Given the description of an element on the screen output the (x, y) to click on. 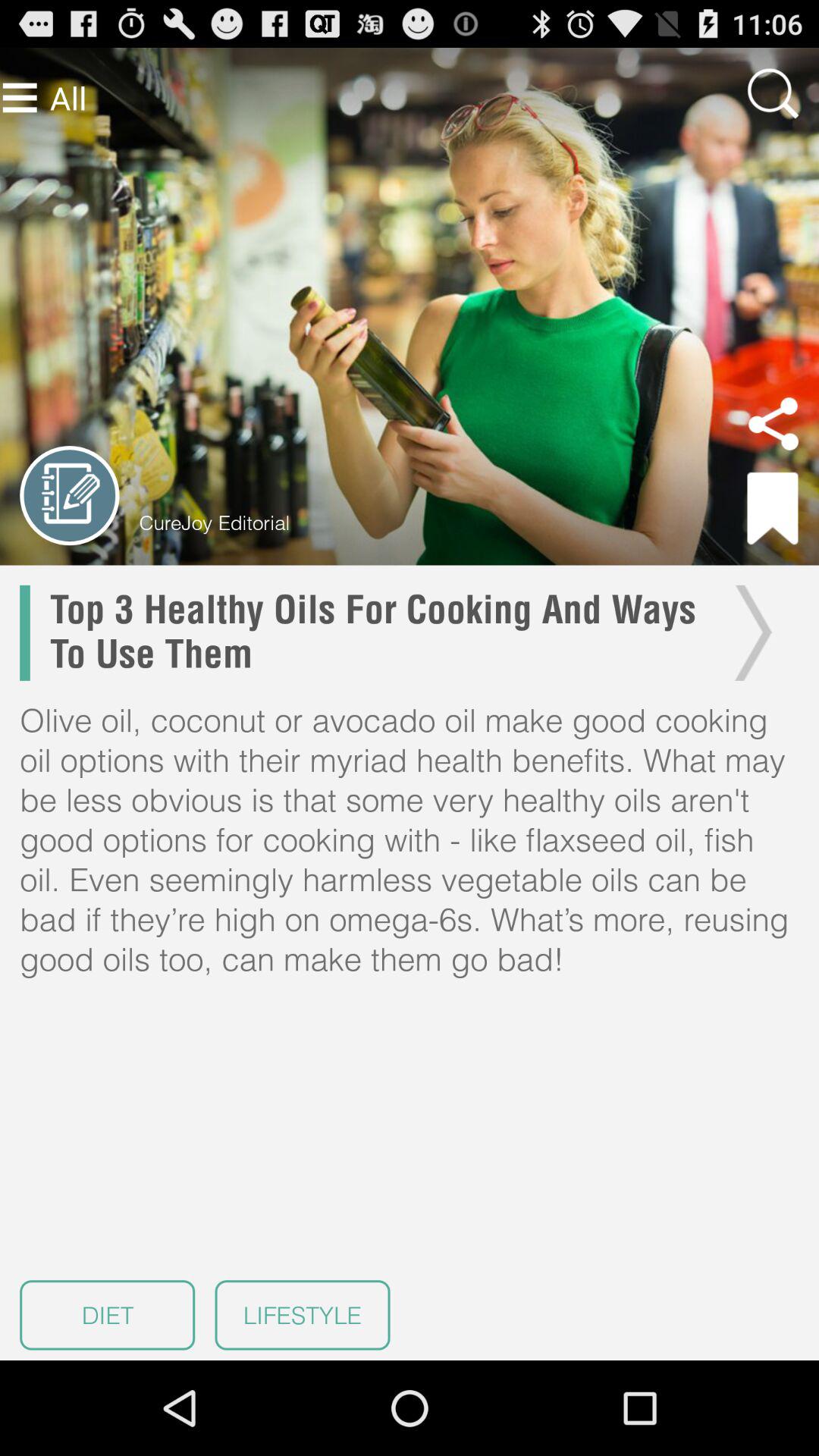
share article (773, 423)
